Given the description of an element on the screen output the (x, y) to click on. 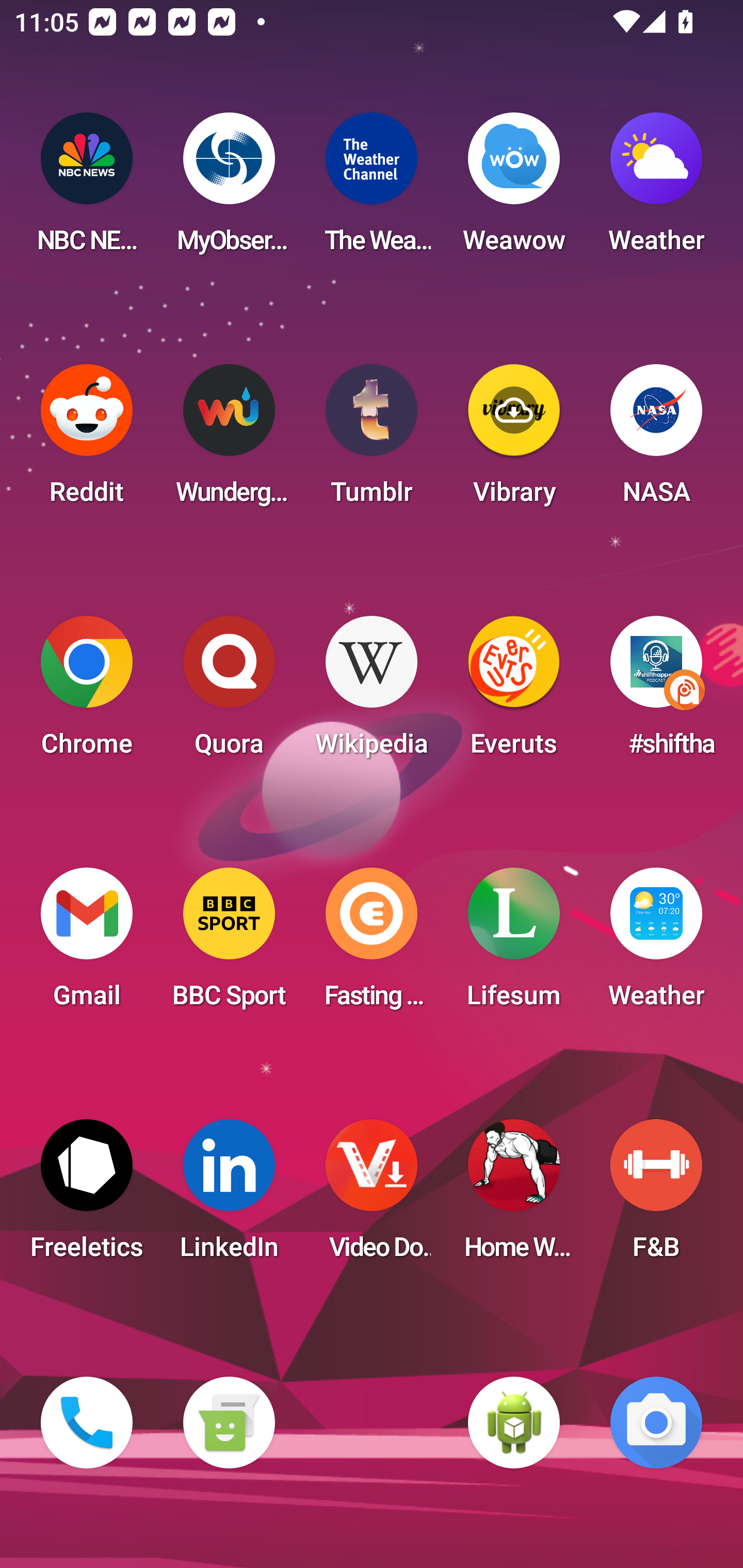
NBC NEWS (86, 188)
MyObservatory (228, 188)
The Weather Channel (371, 188)
Weawow (513, 188)
Weather (656, 188)
Reddit (86, 440)
Wunderground (228, 440)
Tumblr (371, 440)
Vibrary (513, 440)
NASA (656, 440)
Chrome (86, 692)
Quora (228, 692)
Wikipedia (371, 692)
Everuts (513, 692)
#shifthappens in the Digital Workplace Podcast (656, 692)
Gmail (86, 943)
BBC Sport (228, 943)
Fasting Coach (371, 943)
Lifesum (513, 943)
Weather (656, 943)
Freeletics (86, 1195)
LinkedIn (228, 1195)
Video Downloader & Ace Player (371, 1195)
Home Workout (513, 1195)
F&B (656, 1195)
Phone (86, 1422)
Messaging (228, 1422)
WebView Browser Tester (513, 1422)
Camera (656, 1422)
